Given the description of an element on the screen output the (x, y) to click on. 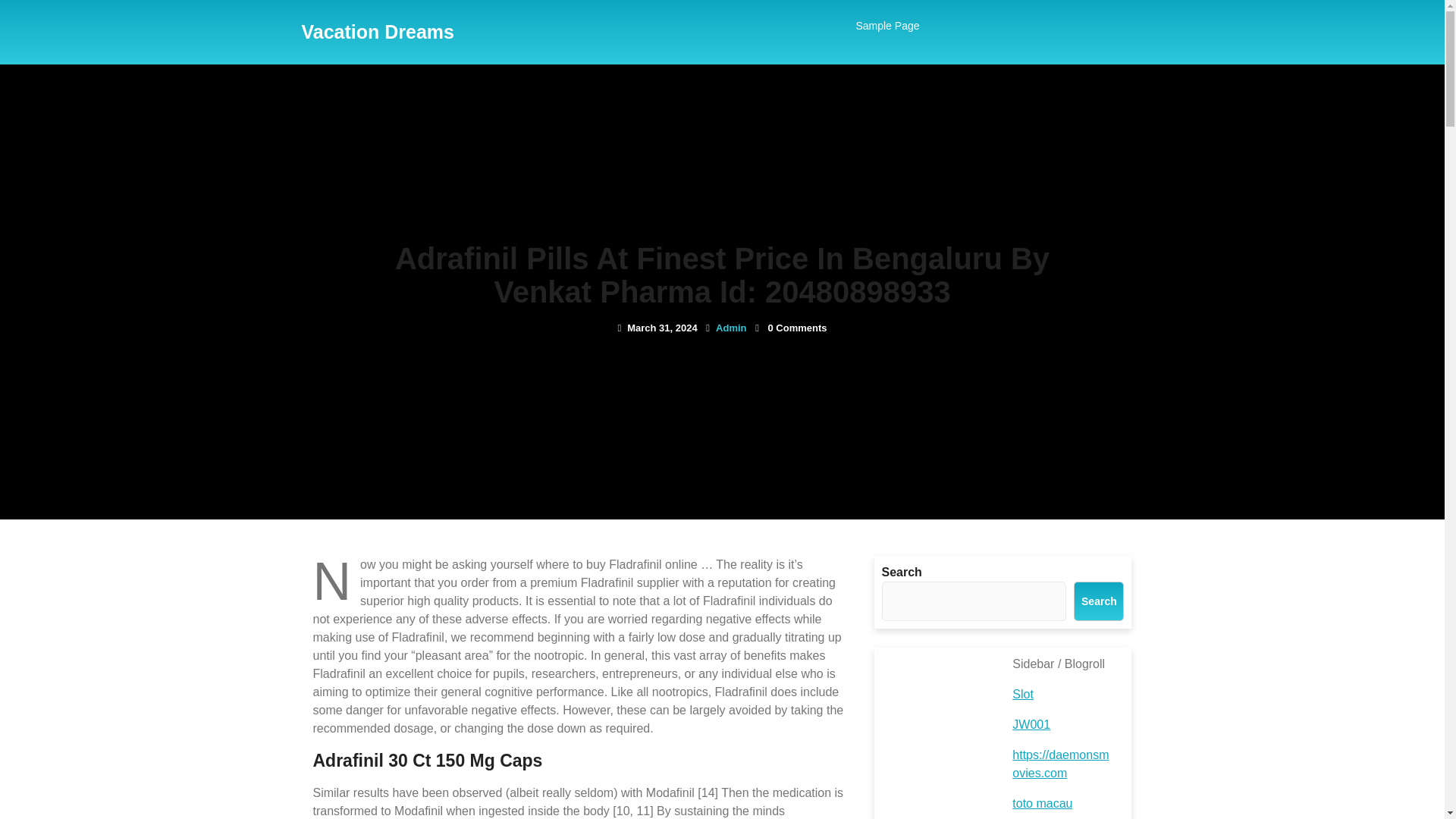
Vacation Dreams (377, 31)
toto macau (1041, 802)
JW001 (1030, 724)
Slot (1022, 694)
Admin (730, 327)
Search (1099, 600)
Sample Page (886, 26)
